Given the description of an element on the screen output the (x, y) to click on. 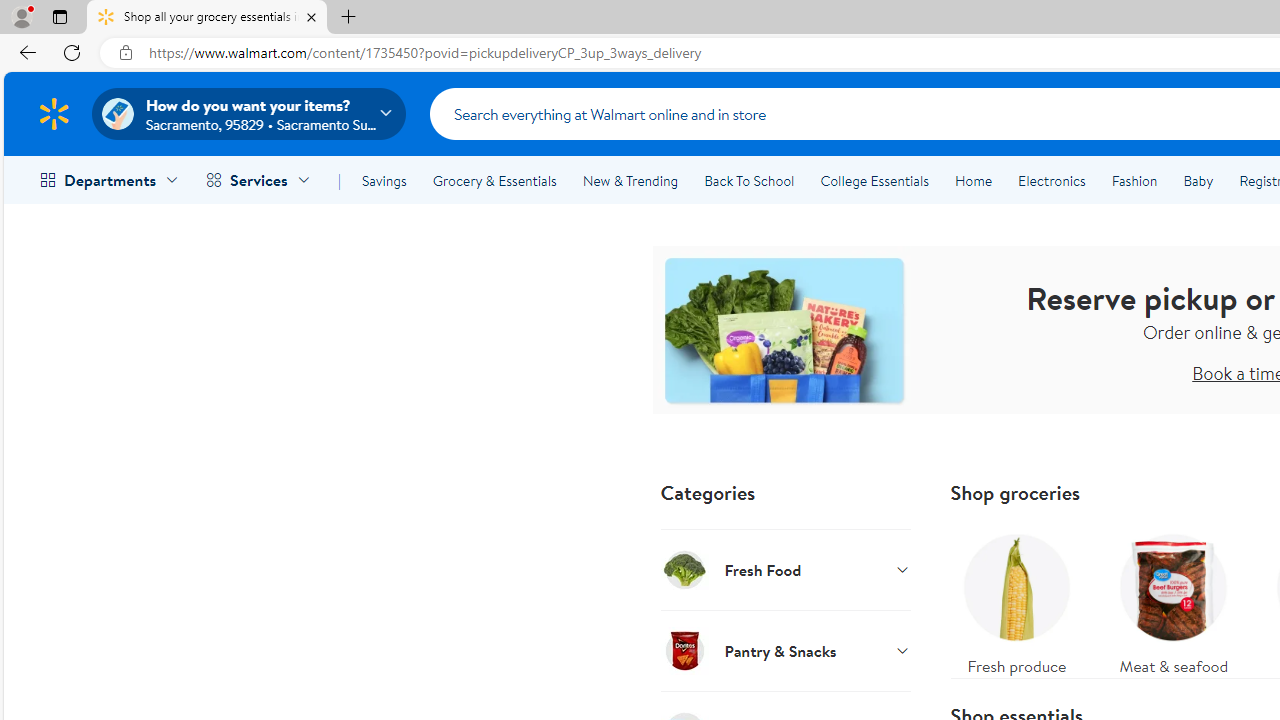
Pantry & Snacks (785, 650)
Back (24, 52)
Fashion (1134, 180)
Close tab (311, 16)
Back To School (749, 180)
Electronics (1051, 180)
Baby (1197, 180)
Meat & seafood (1173, 599)
Fashion (1134, 180)
